Given the description of an element on the screen output the (x, y) to click on. 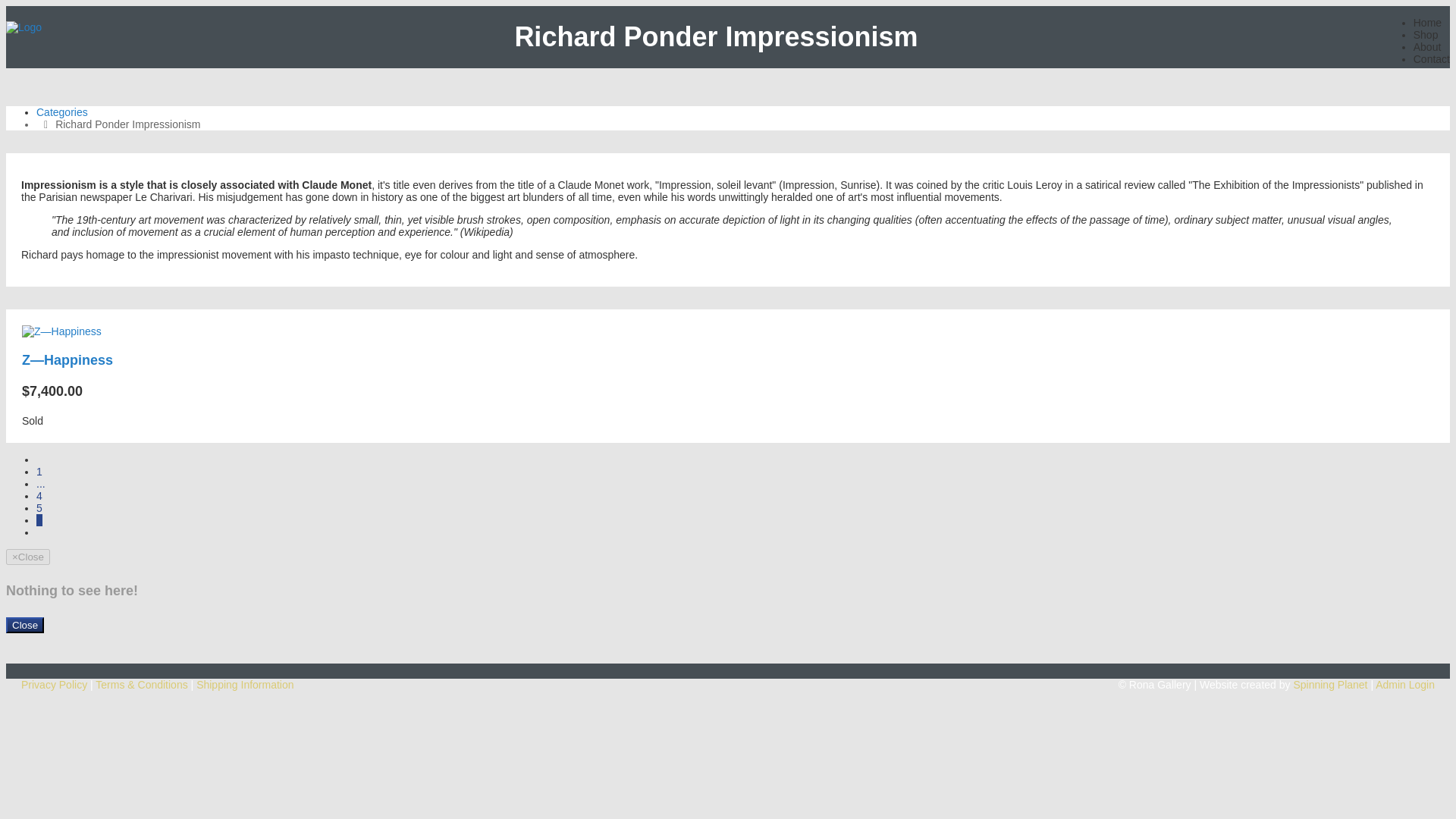
Close (24, 625)
Categories (61, 111)
